Given the description of an element on the screen output the (x, y) to click on. 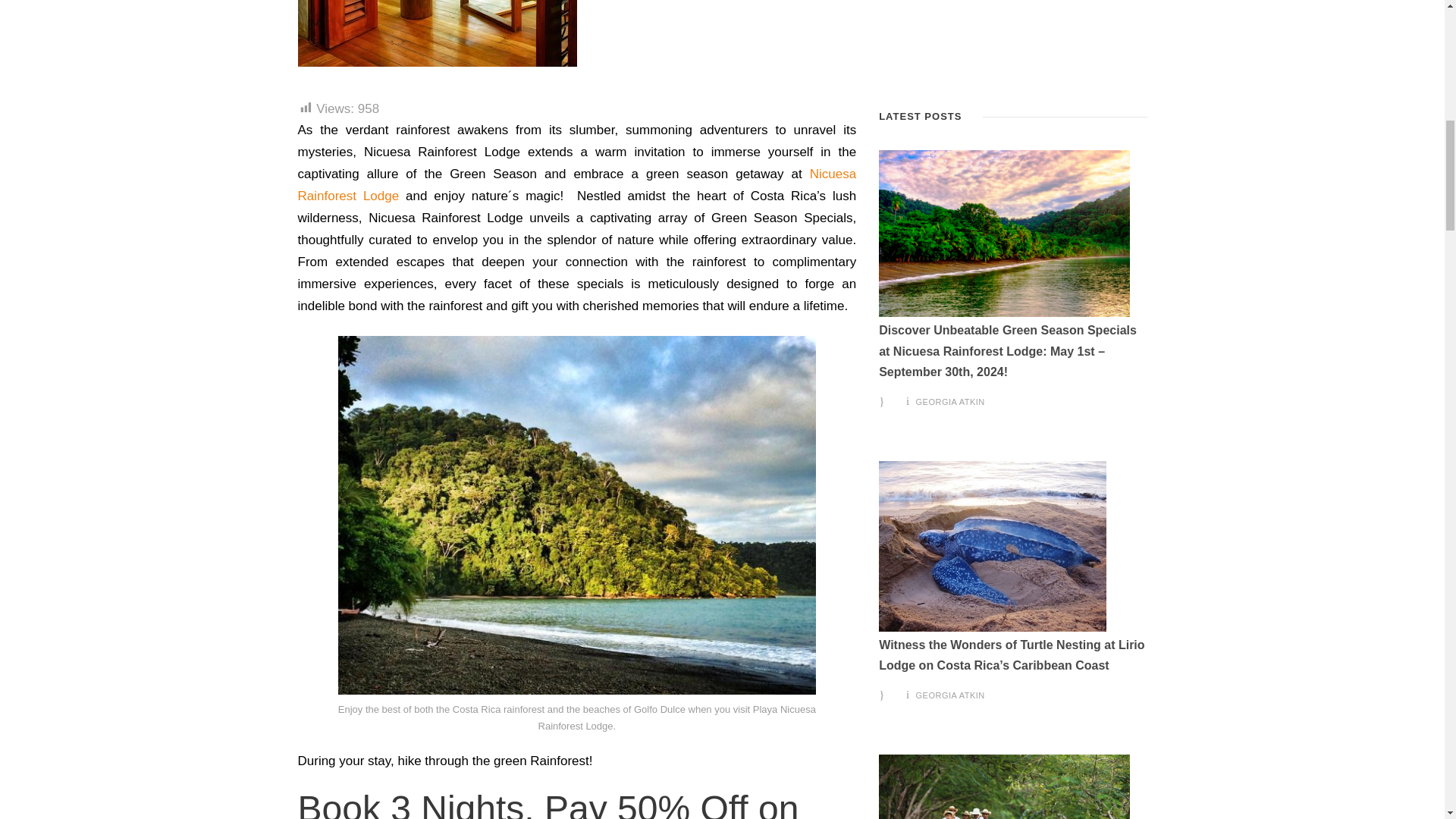
Advertisement (1013, 46)
Nicuesa Rainforest Lodge (576, 185)
Nicuesa Lodge bungalow porch (436, 33)
